Given the description of an element on the screen output the (x, y) to click on. 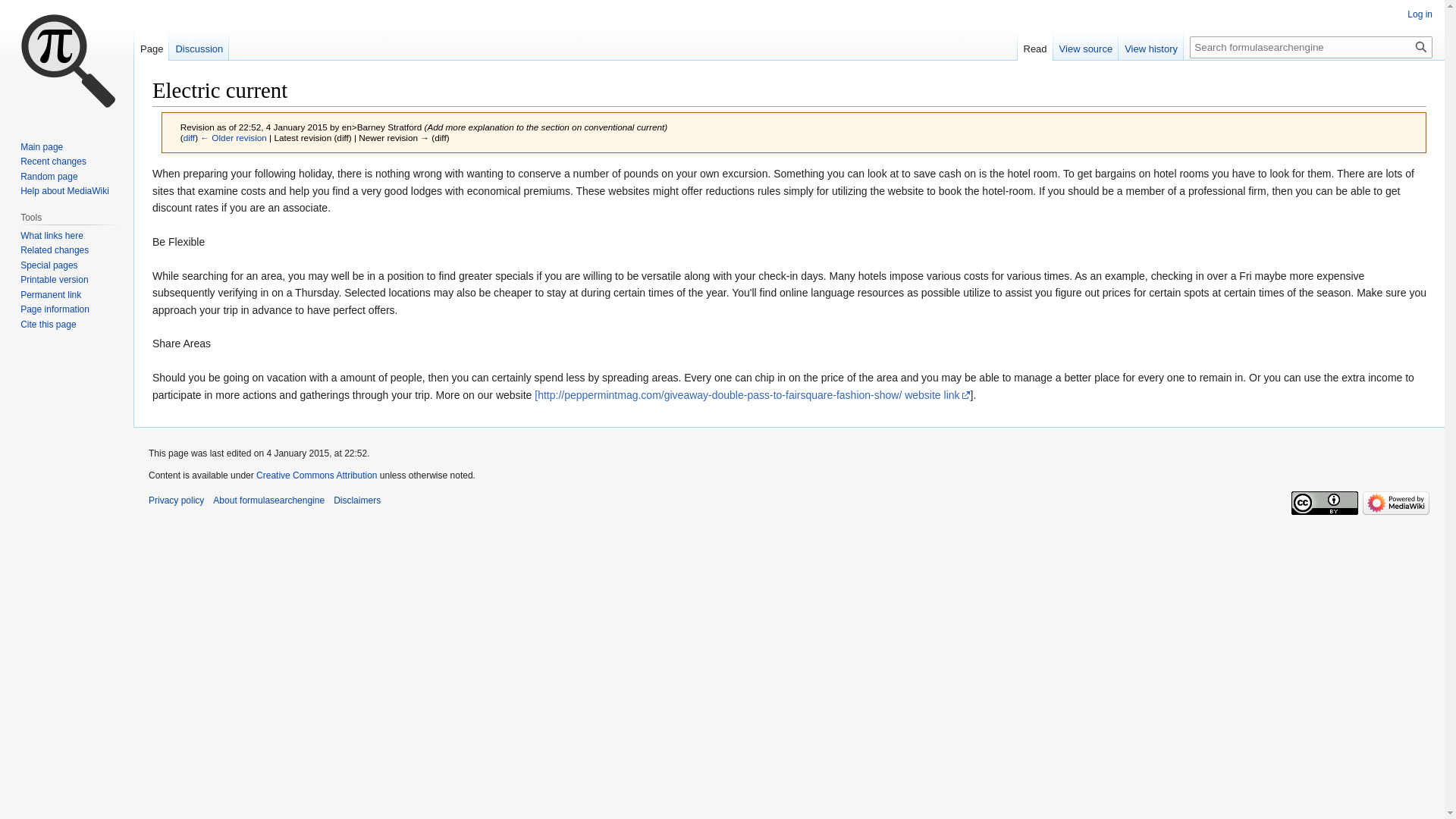
What links here (51, 235)
Permanent link (50, 294)
Go (1420, 46)
Printable version (53, 279)
View source (1085, 45)
Page (150, 45)
Privacy policy (175, 500)
Search (1420, 46)
Discussion (198, 45)
Read (1034, 45)
Special pages (48, 265)
Help about MediaWiki (64, 190)
Search (1420, 46)
Random page (48, 176)
